Given the description of an element on the screen output the (x, y) to click on. 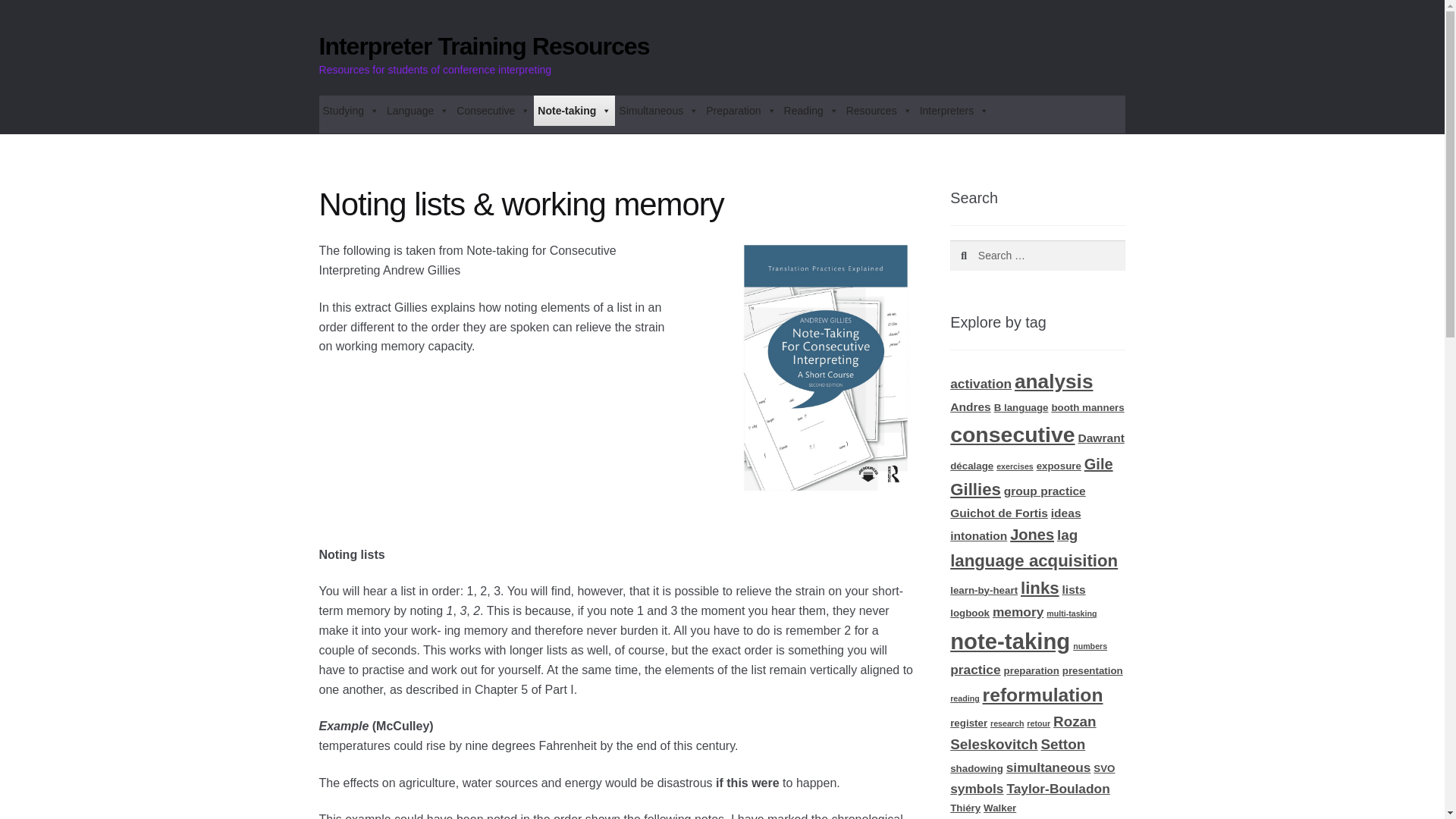
Note-taking (574, 110)
Language (417, 110)
Consecutive (493, 110)
Simultaneous (657, 110)
Studying (350, 110)
Preparation (739, 110)
Interpreter Training Resources (483, 45)
